Given the description of an element on the screen output the (x, y) to click on. 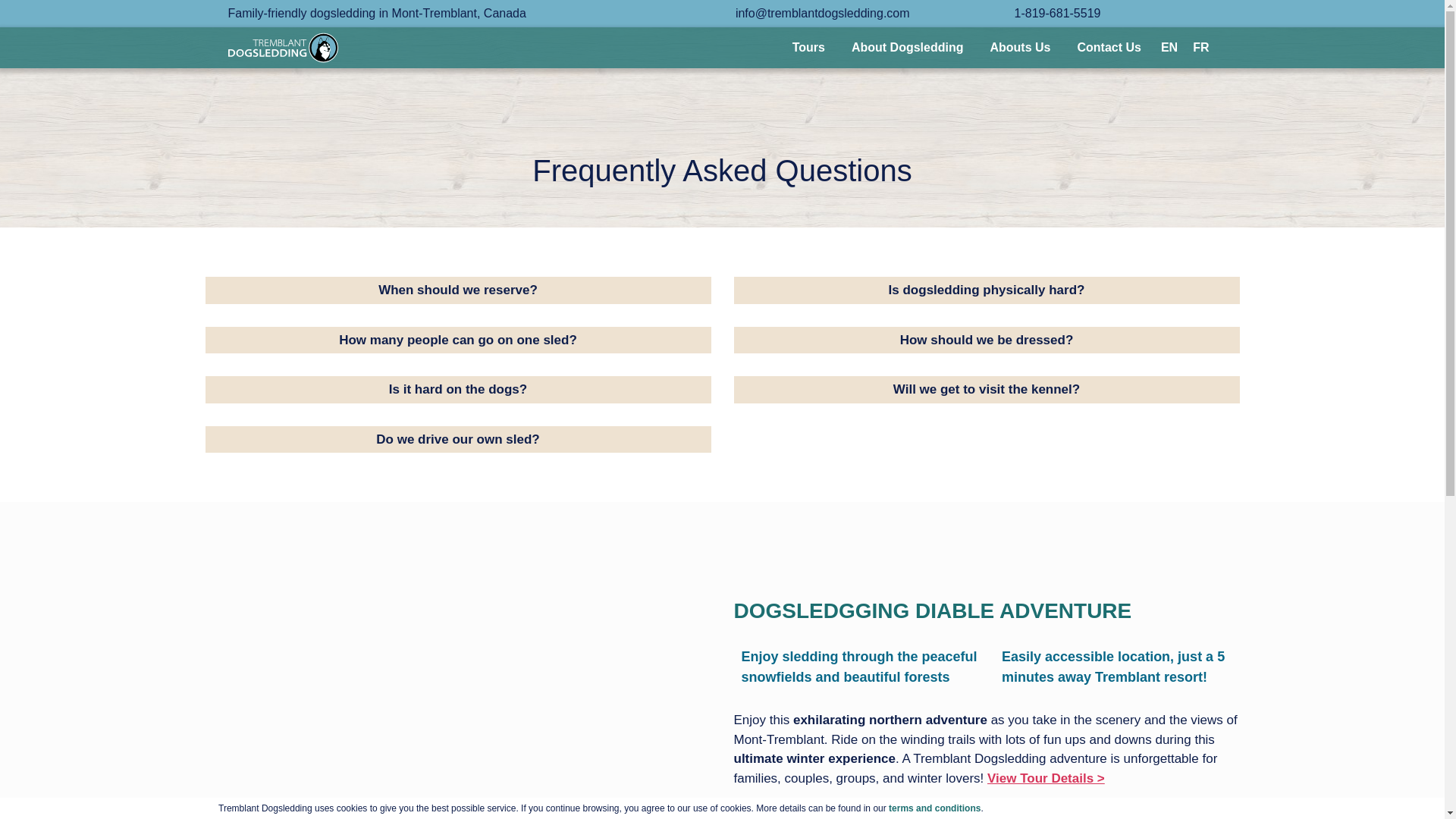
Abouts Us (1019, 47)
Is it hard on the dogs? (457, 389)
When should we reserve? (457, 289)
How many people can go on one sled? (457, 339)
Contact Us (1108, 47)
About Dogsledding (907, 47)
Visit Home page (282, 47)
FR (1200, 47)
EN (1169, 47)
Tours (808, 47)
1-819-681-5519 (1057, 12)
